Given the description of an element on the screen output the (x, y) to click on. 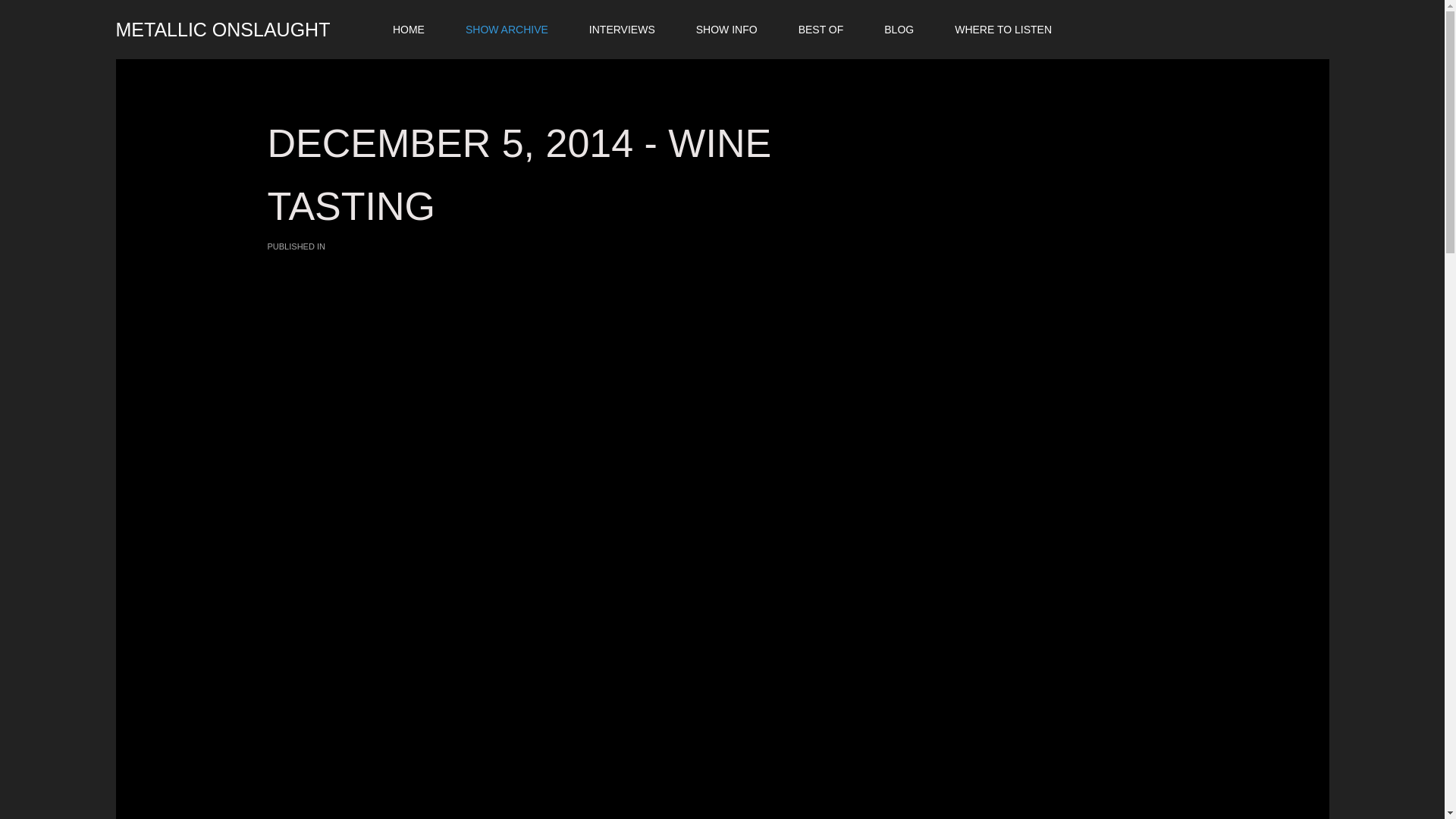
WHERE TO LISTEN (1002, 29)
SHOW INFO (726, 29)
BEST OF (820, 29)
BLOG (898, 29)
METALLIC ONSLAUGHT (232, 20)
HOME (408, 29)
INTERVIEWS (622, 29)
SHOW ARCHIVE (507, 29)
2014 (336, 245)
